Given the description of an element on the screen output the (x, y) to click on. 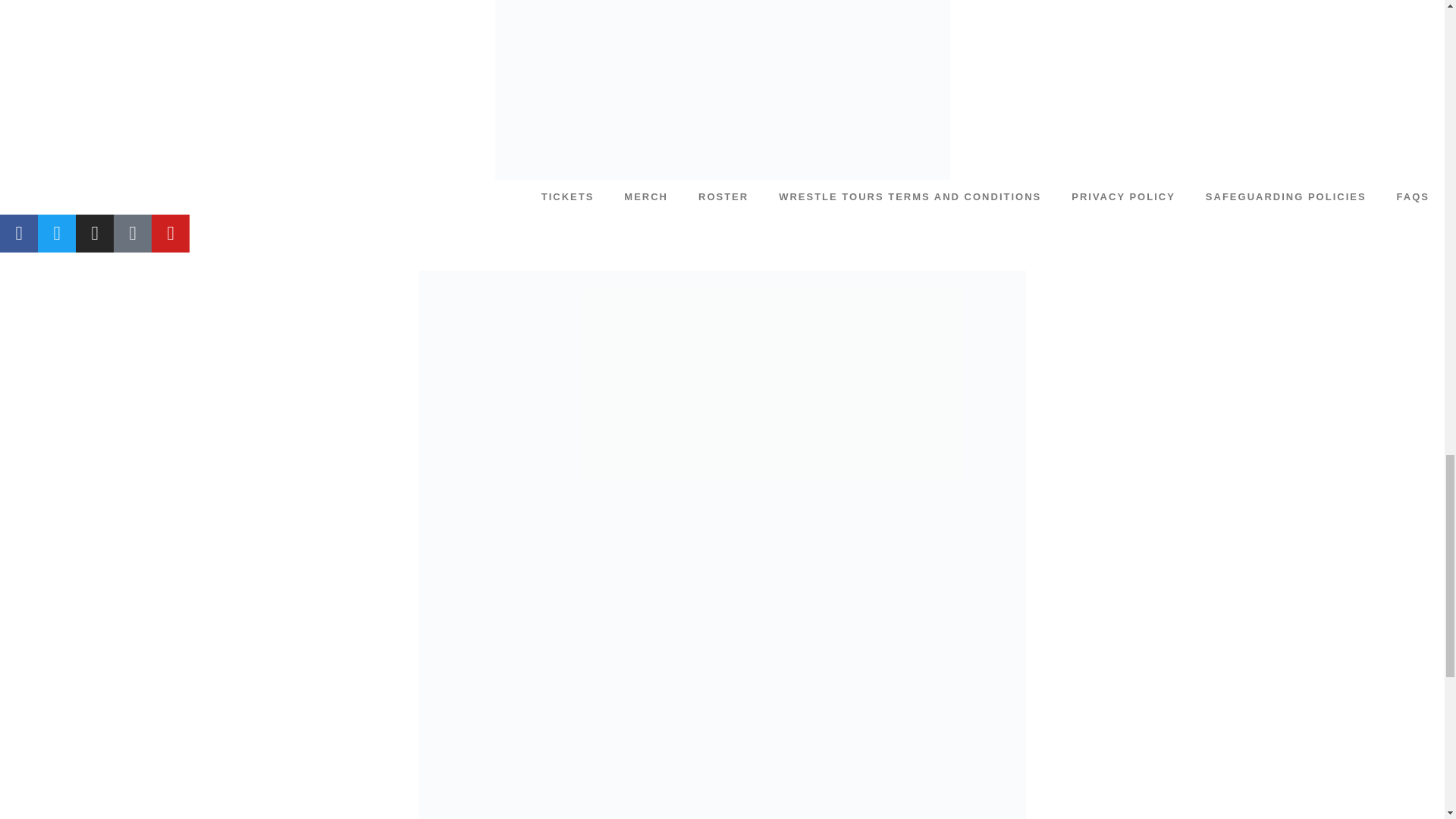
SAFEGUARDING POLICIES (1286, 196)
PRIVACY POLICY (1124, 196)
TICKETS (567, 196)
ROSTER (722, 196)
WRESTLE TOURS TERMS AND CONDITIONS (909, 196)
MERCH (645, 196)
